Given the description of an element on the screen output the (x, y) to click on. 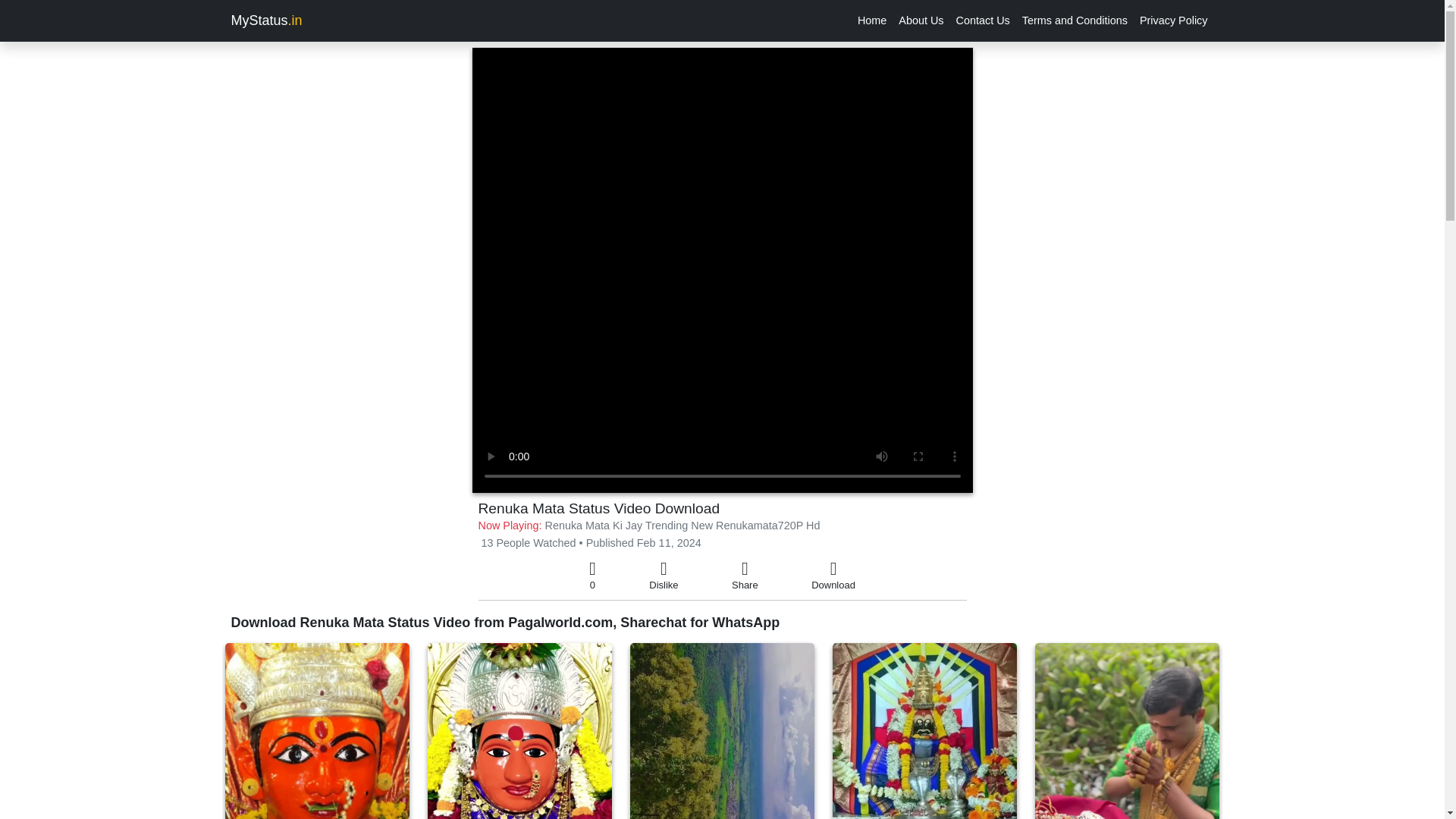
Dislike (663, 576)
Privacy Policy (1174, 20)
0 (592, 576)
About Us (920, 20)
Terms and Conditions (1075, 20)
Home (871, 20)
MyStatus.in (265, 20)
Share (744, 576)
Contact Us (983, 20)
Download (833, 576)
